Given the description of an element on the screen output the (x, y) to click on. 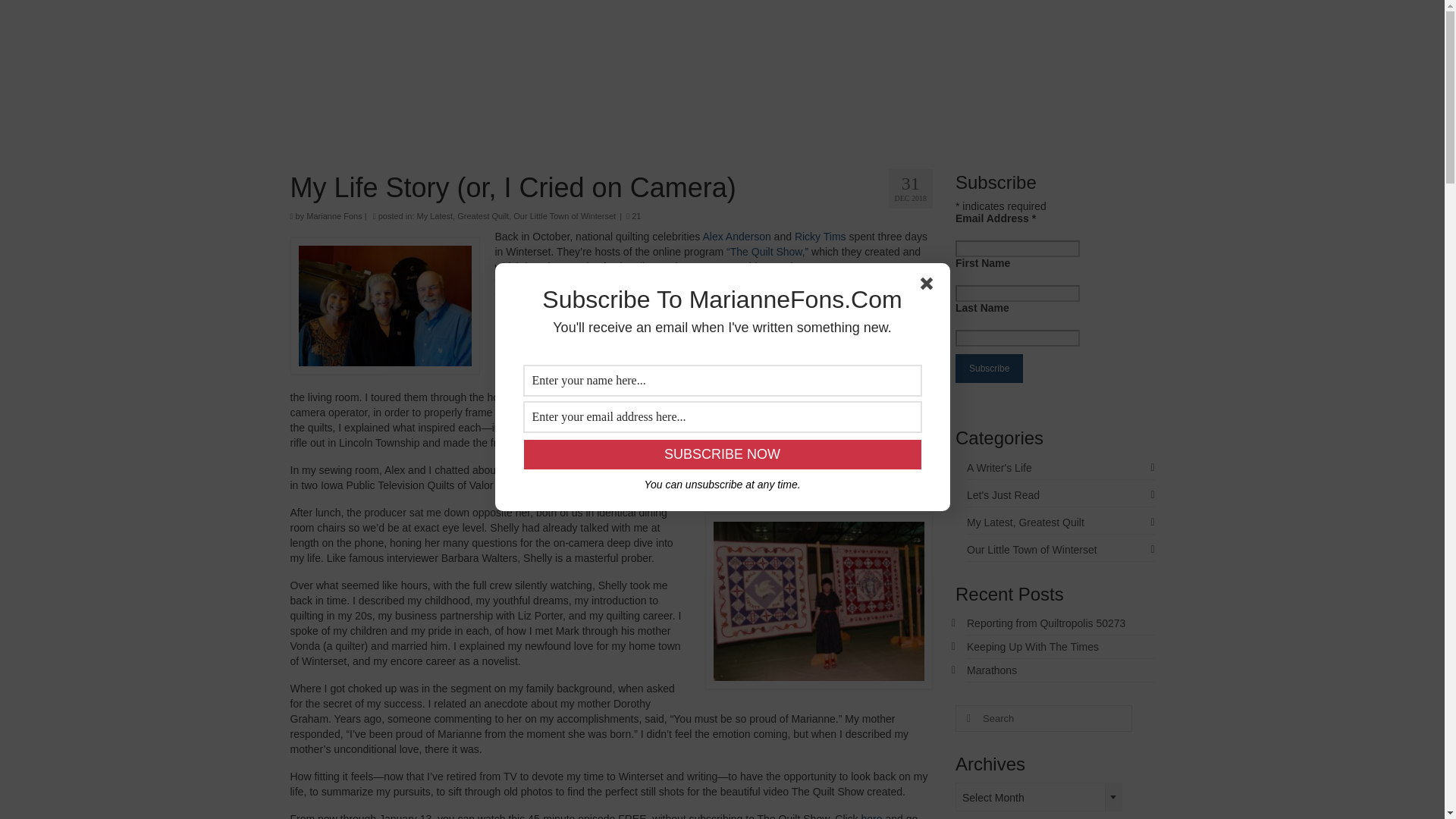
Ricky Tims (819, 236)
Close optin form (929, 286)
Subscribe Now (721, 454)
Marianne Fons (724, 35)
Iowa Quilt Museum, (817, 282)
here (871, 816)
Home (360, 119)
Marianne Fons (724, 35)
Select Month (1038, 797)
21 (633, 215)
Subscribe (989, 368)
Contact (788, 119)
Our Little Town of Winterset (564, 215)
Marianne Fons (333, 215)
Piece Works (614, 282)
